Given the description of an element on the screen output the (x, y) to click on. 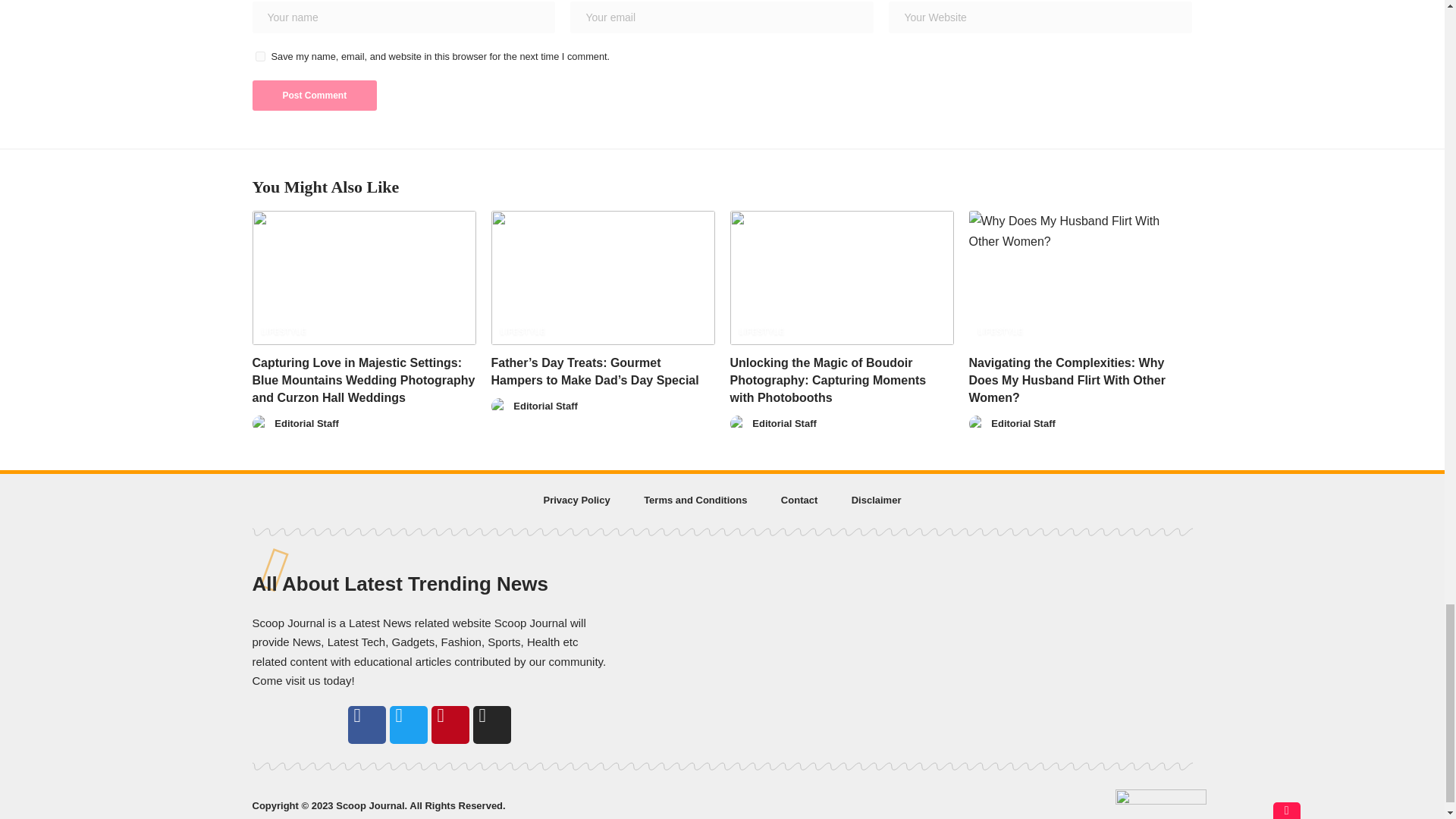
yes (259, 56)
Post Comment (314, 95)
